Given the description of an element on the screen output the (x, y) to click on. 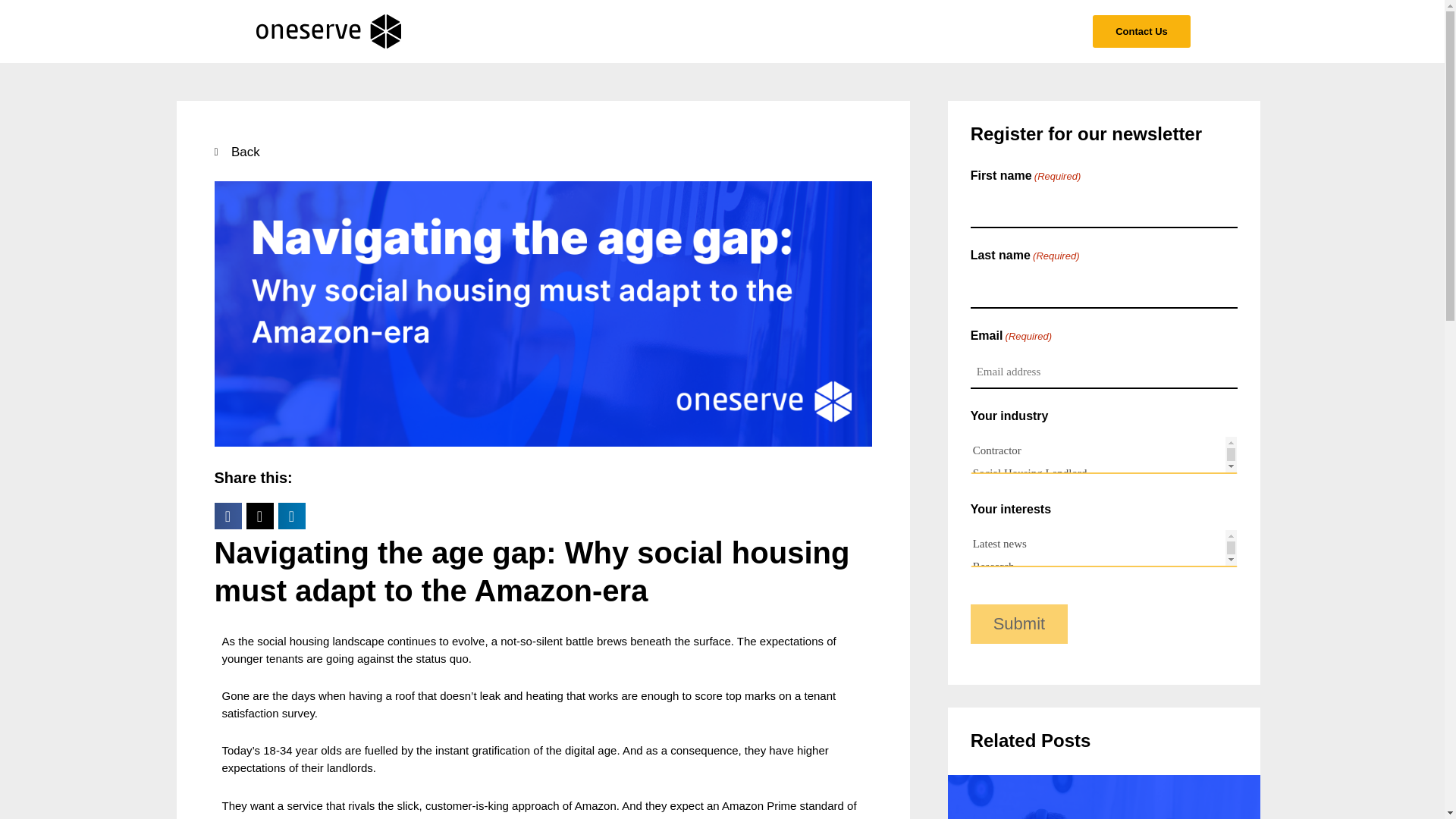
Submit (1019, 623)
